Given the description of an element on the screen output the (x, y) to click on. 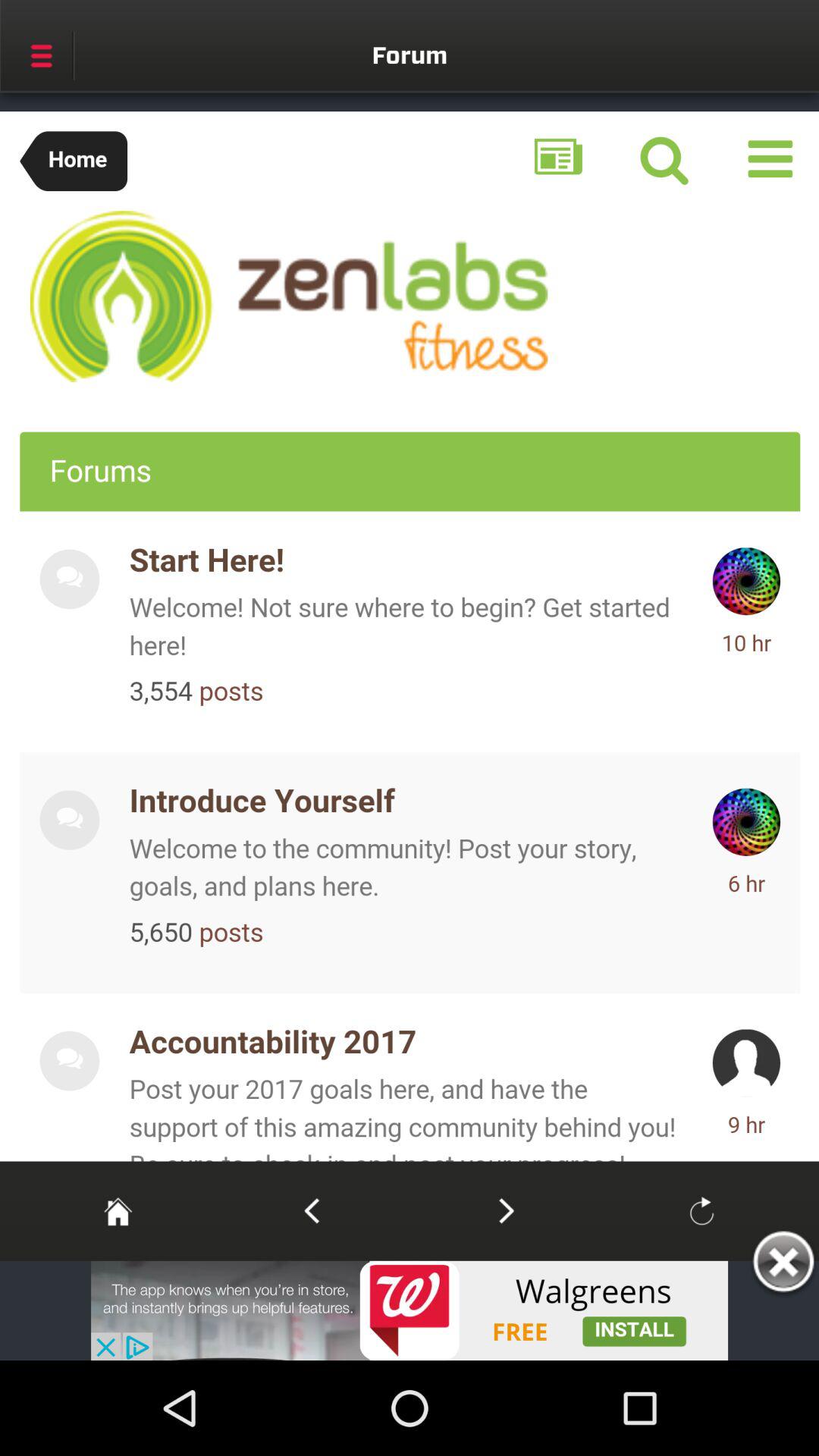
go back (311, 1210)
